Given the description of an element on the screen output the (x, y) to click on. 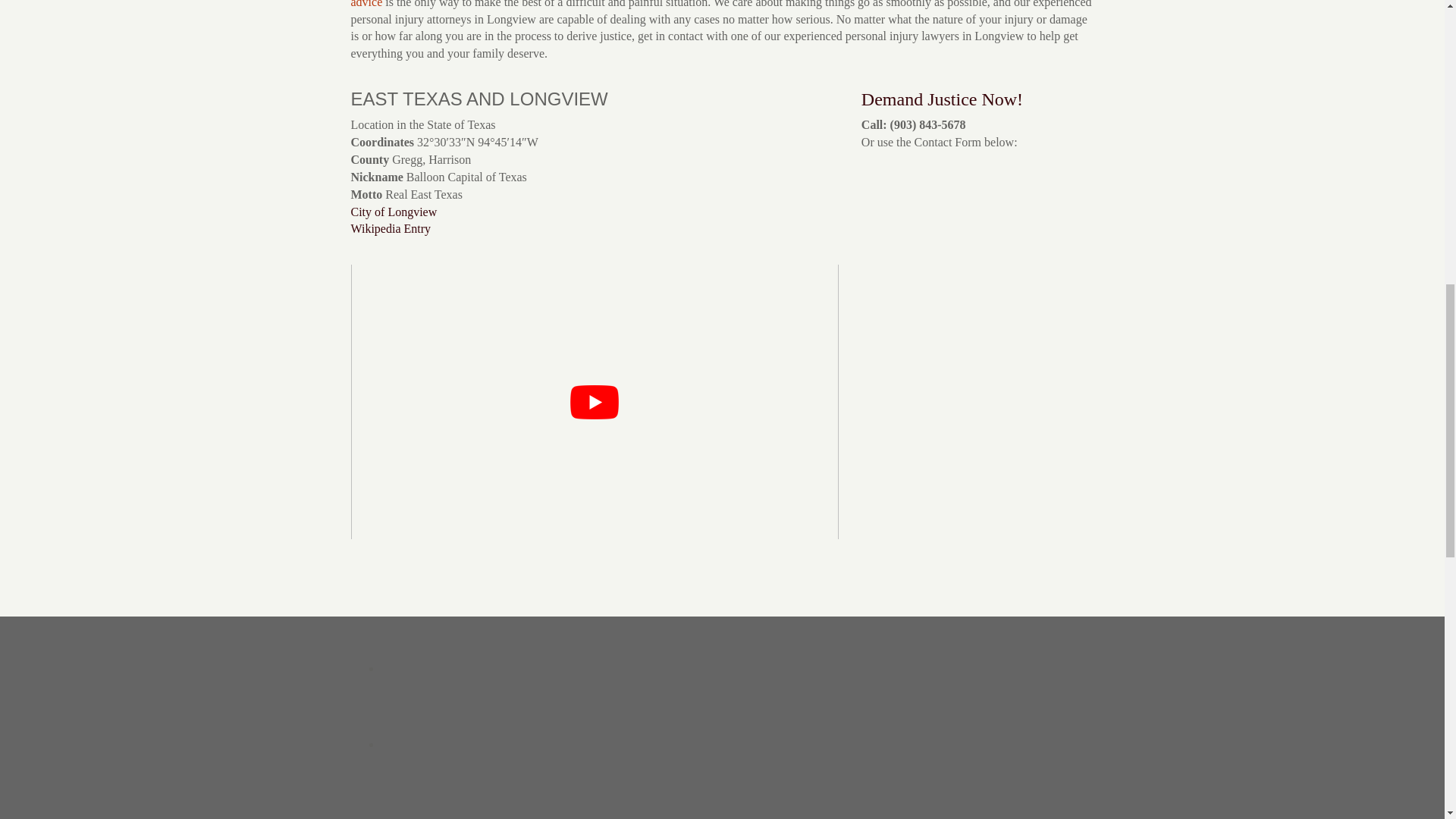
01 (444, 669)
03 (444, 800)
Longview of East Texas Wiki Entry (390, 228)
City Government (393, 211)
02 (444, 744)
